Given the description of an element on the screen output the (x, y) to click on. 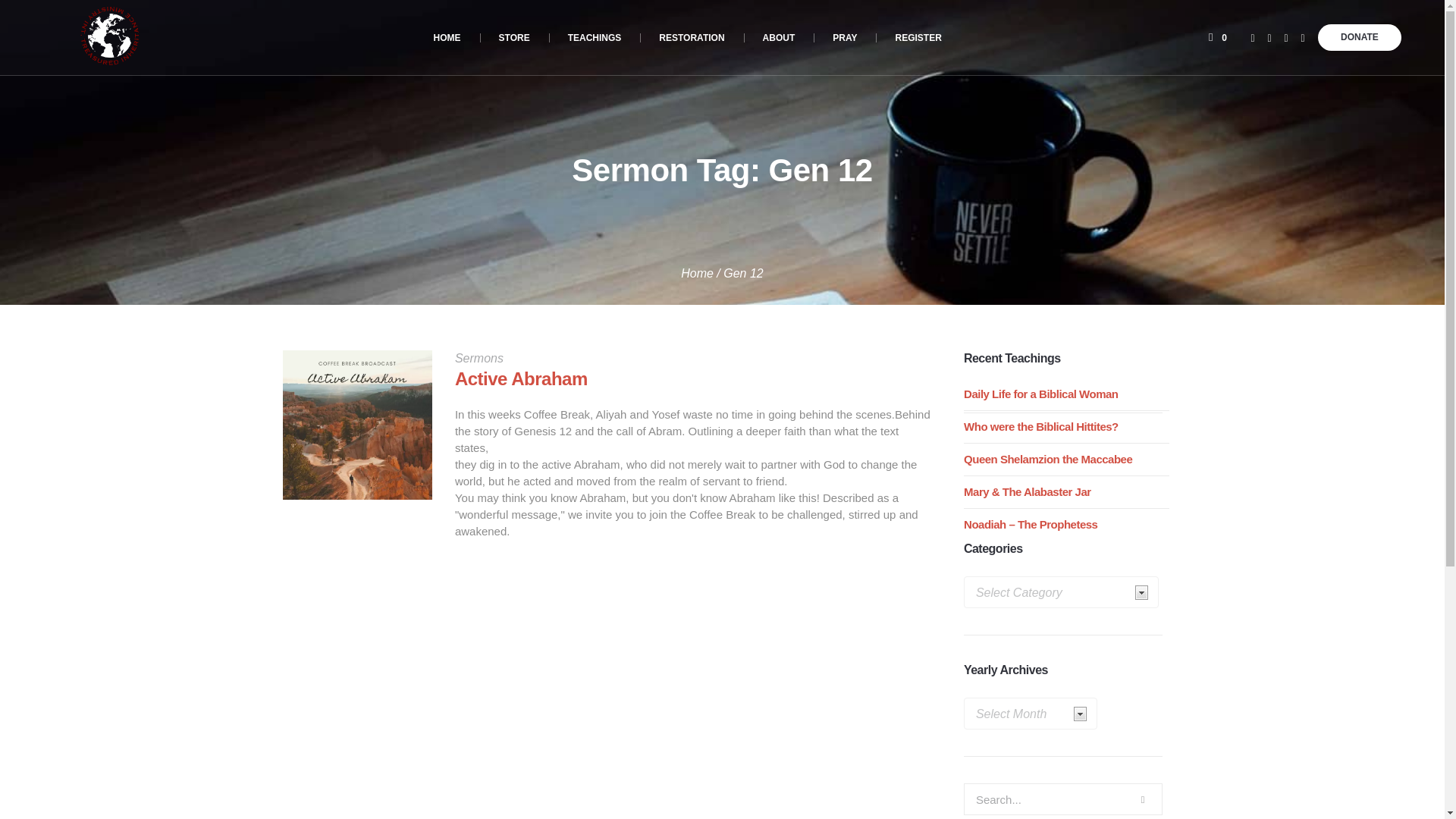
0 (1217, 37)
Active Abraham (521, 378)
Daily Life for a Biblical Woman (1040, 393)
STORE (514, 37)
ABOUT (778, 37)
TEACHINGS (594, 37)
Home (697, 273)
REGISTER (917, 37)
Queen Shelamzion the Maccabee (1047, 459)
Apple Podcast (1302, 38)
YouTube (1269, 38)
DONATE (1358, 37)
RESTORATION (691, 37)
Who were the Biblical Hittites? (1040, 426)
Active Abraham (356, 424)
